Given the description of an element on the screen output the (x, y) to click on. 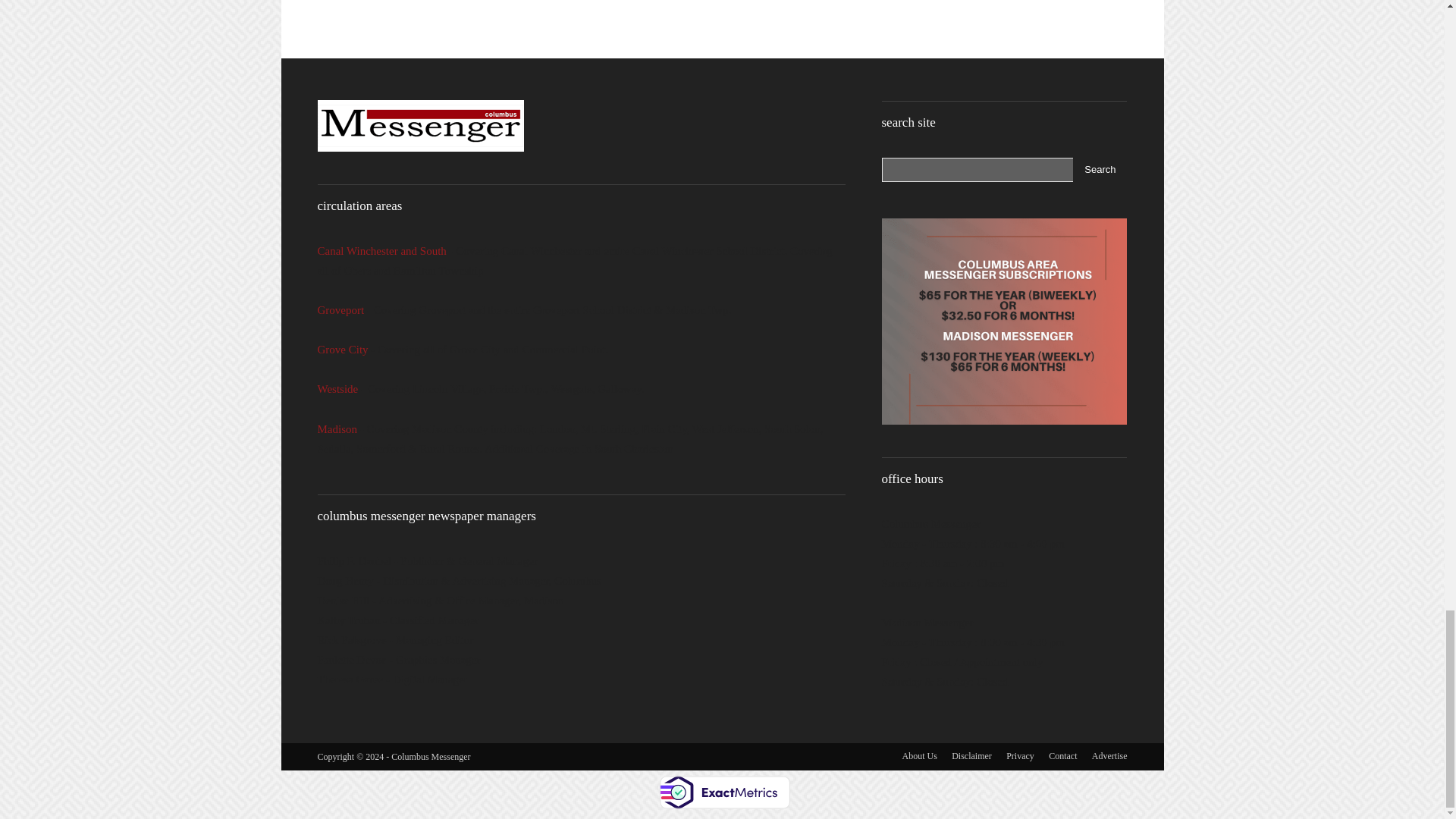
Search (1099, 169)
